Given the description of an element on the screen output the (x, y) to click on. 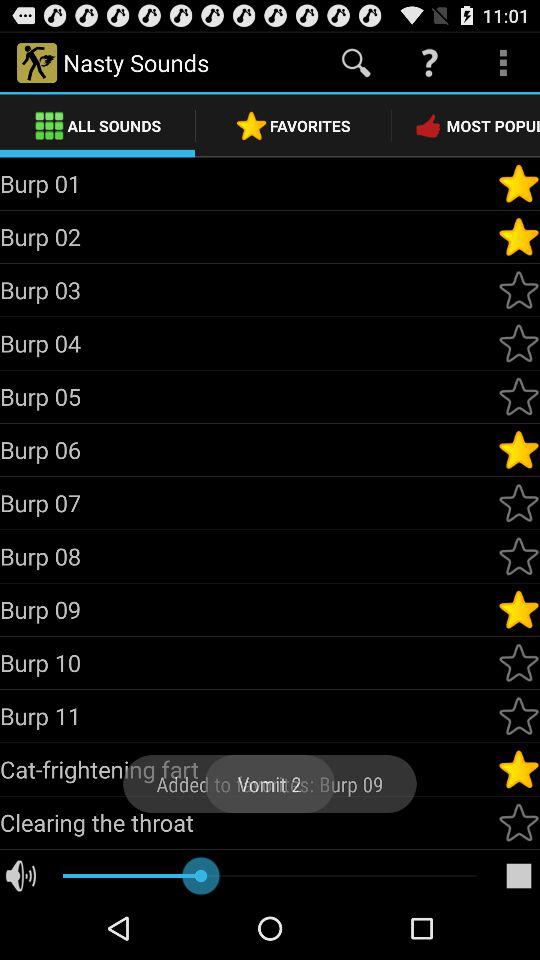
swipe until the burp 05 item (248, 396)
